Given the description of an element on the screen output the (x, y) to click on. 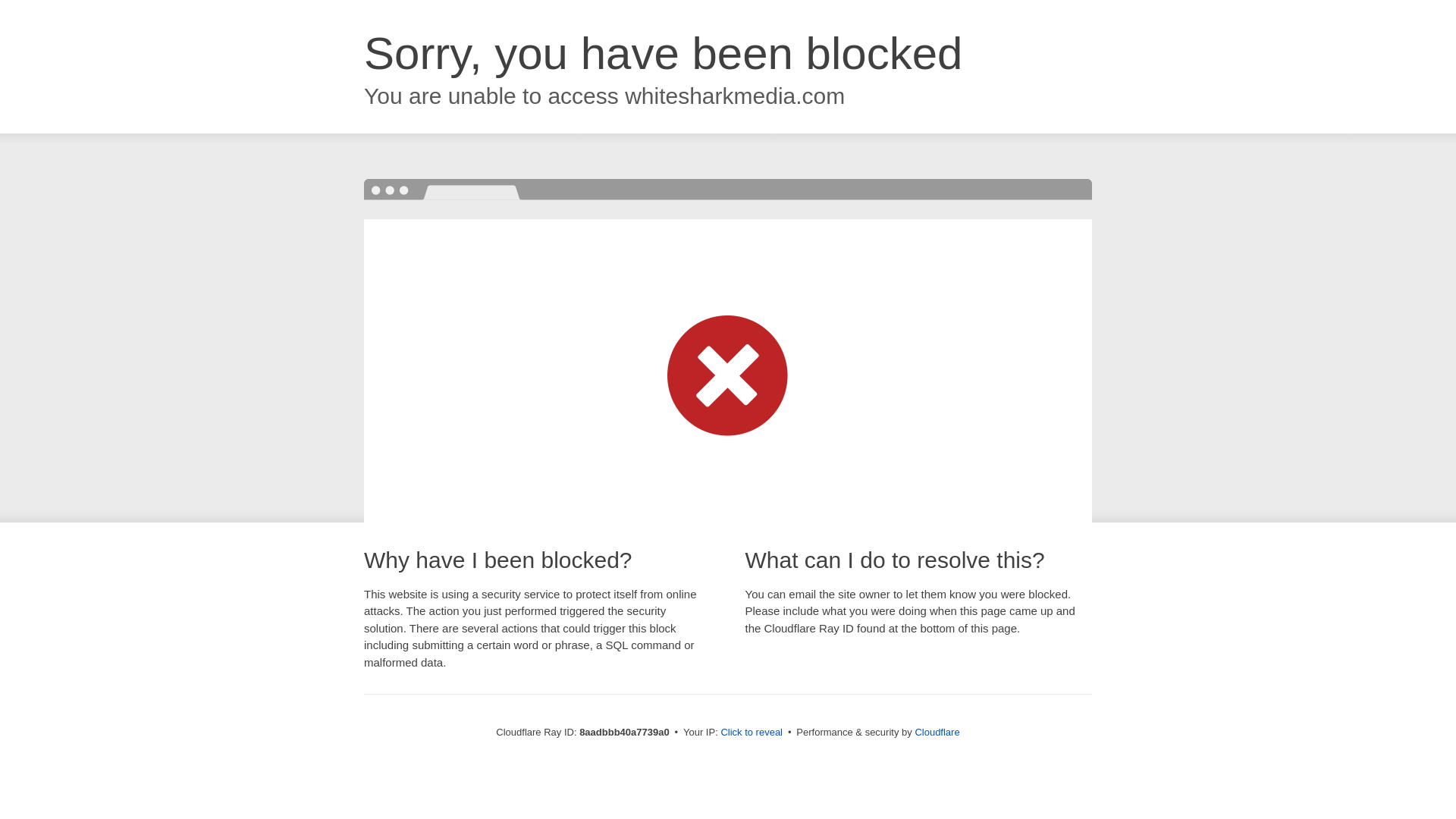
Cloudflare (936, 731)
Click to reveal (751, 732)
